Given the description of an element on the screen output the (x, y) to click on. 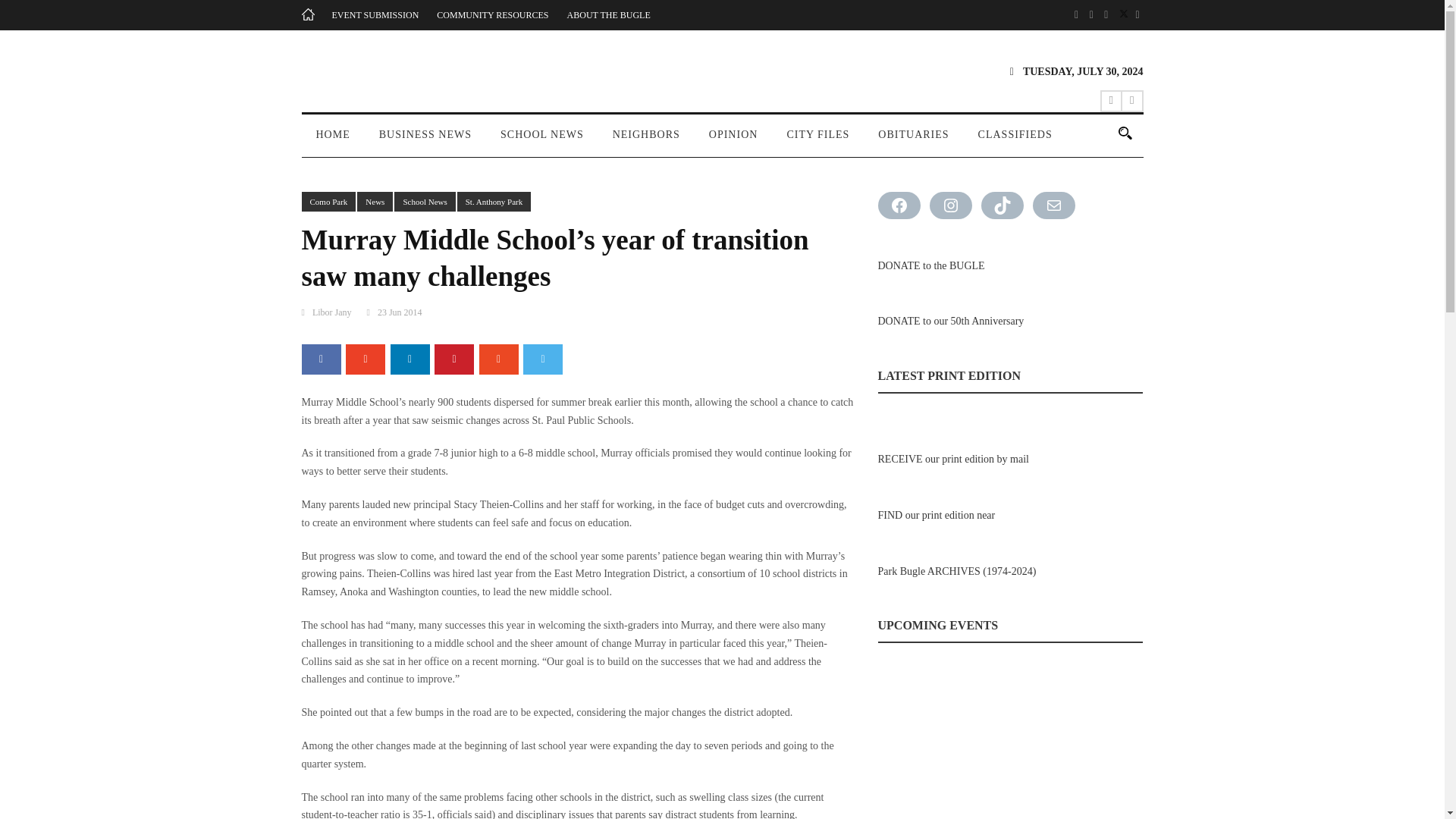
HOME (333, 141)
SCHOOL NEWS (542, 141)
OPINION (733, 141)
OBITUARIES (912, 141)
CITY FILES (817, 141)
COMMUNITY RESOURCES (492, 15)
EVENT SUBMISSION (375, 15)
ABOUT THE BUGLE (608, 15)
CLASSIFIEDS (1015, 141)
Como Park (328, 201)
NEIGHBORS (646, 141)
News (374, 201)
BUSINESS NEWS (425, 141)
Posts by Libor Jany (332, 312)
